Given the description of an element on the screen output the (x, y) to click on. 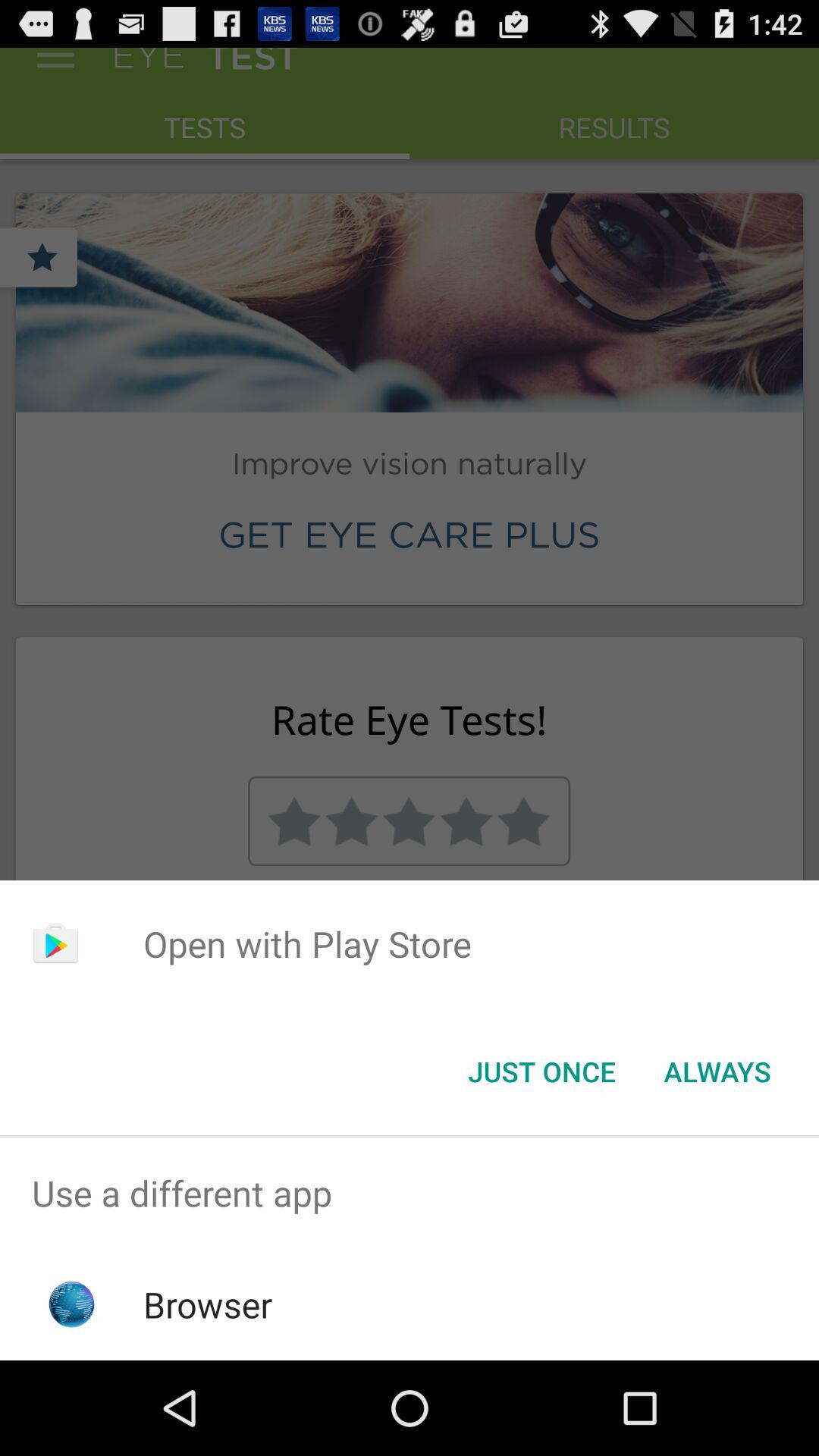
turn off the browser item (207, 1304)
